Given the description of an element on the screen output the (x, y) to click on. 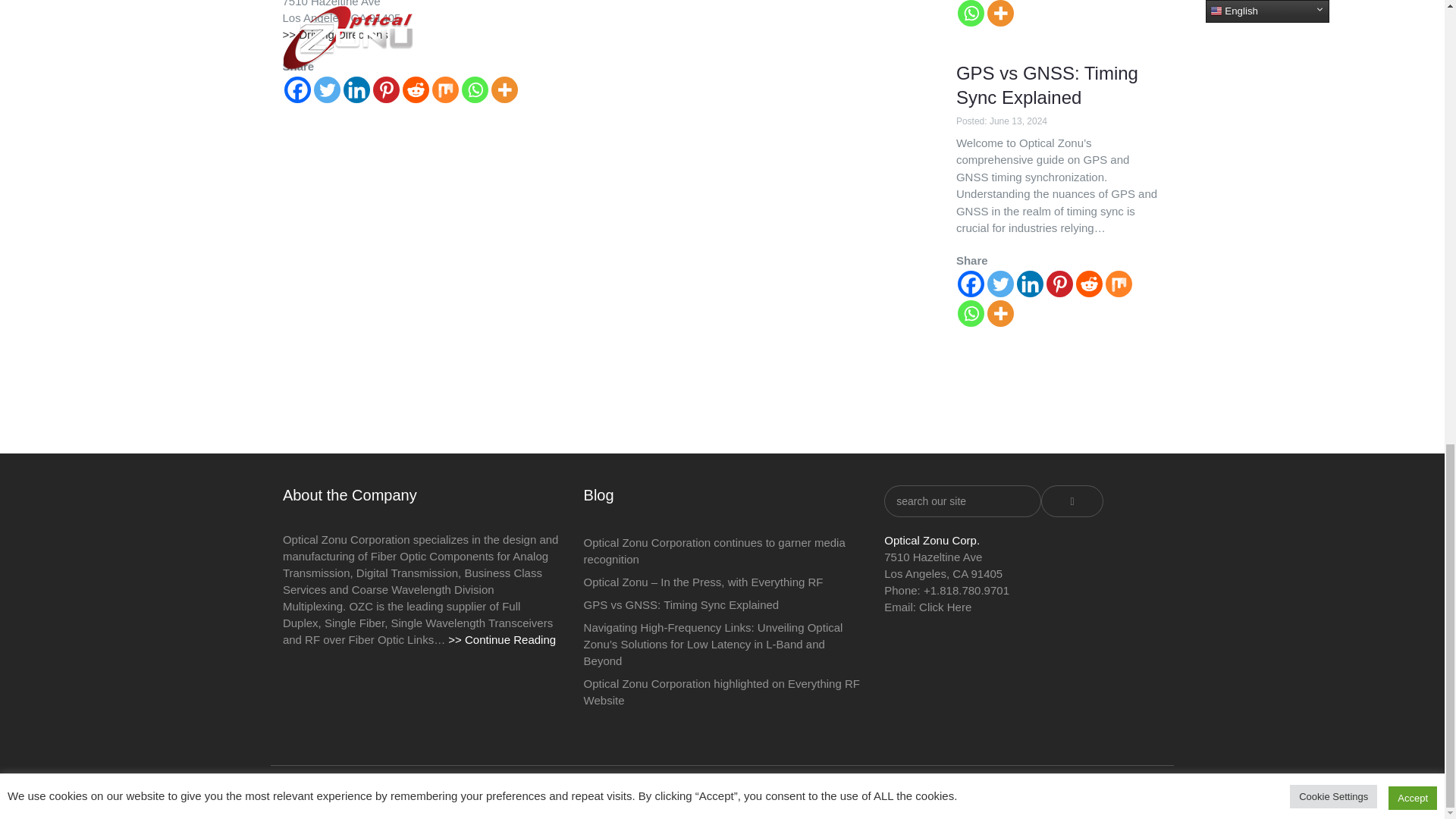
Pinterest (385, 89)
Reddit (414, 89)
More (505, 89)
Linkedin (355, 89)
Facebook (296, 89)
Twitter (327, 89)
Mix (445, 89)
Whatsapp (474, 89)
